Given the description of an element on the screen output the (x, y) to click on. 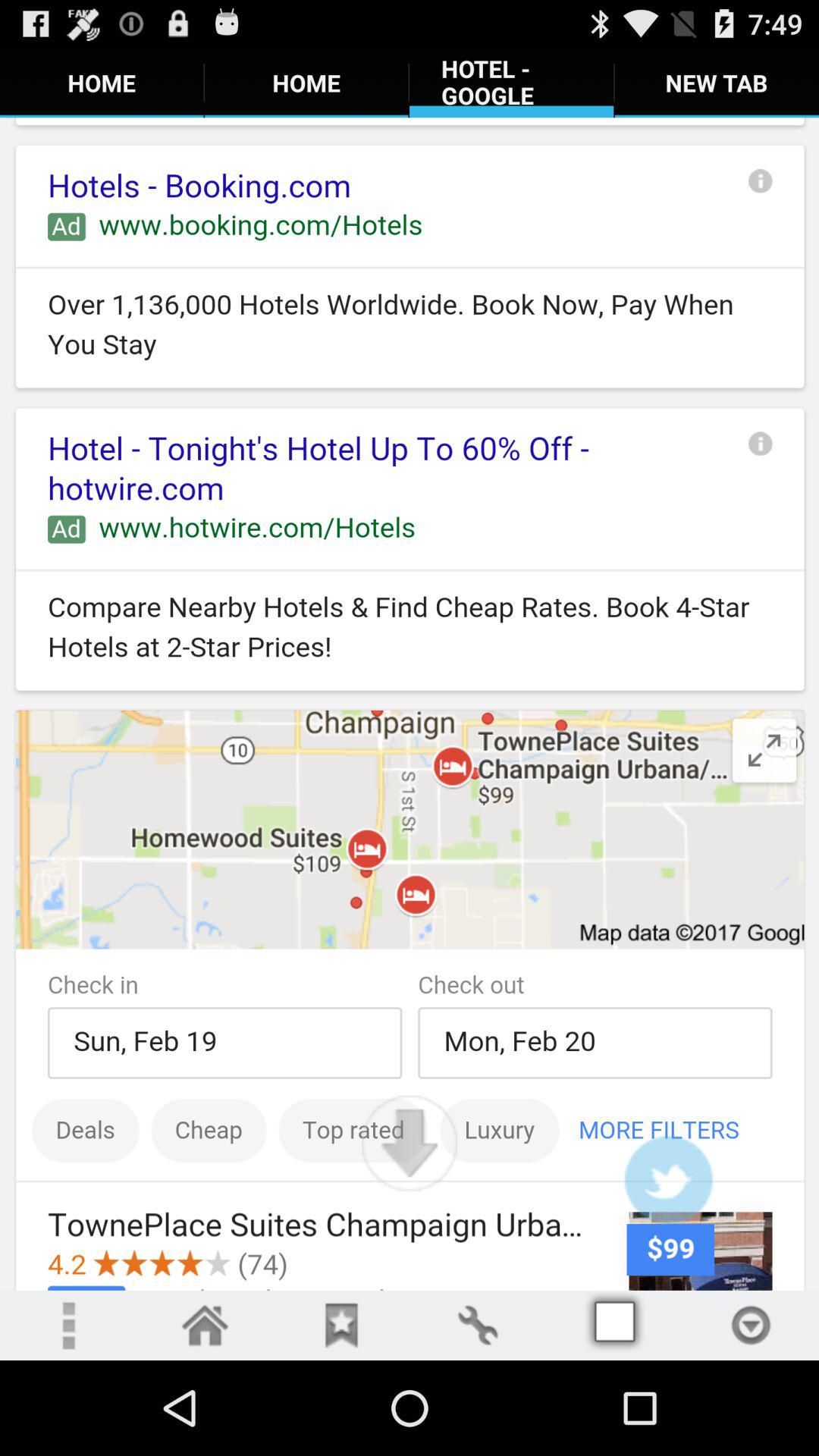
click down mark arrow below 99 (750, 1324)
click on the fourth icon from the last bottom row (477, 1324)
select the wish list icon which is next to home icon (340, 1324)
select the home option which is towards the left side of hotel google option (306, 82)
